Given the description of an element on the screen output the (x, y) to click on. 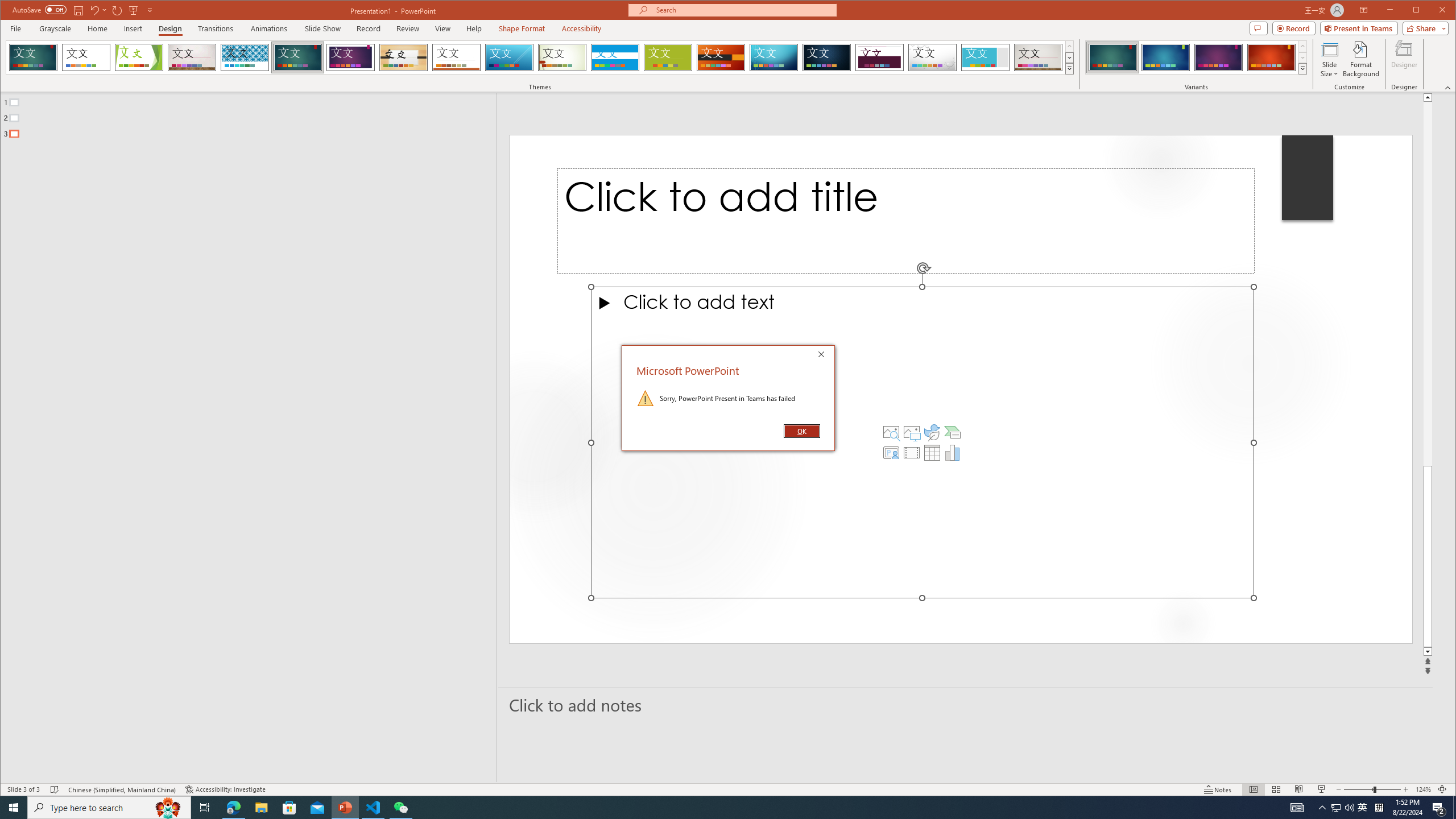
AutomationID: ThemeVariantsGallery (1196, 57)
Start (13, 807)
Tray Input Indicator - Chinese (Simplified, China) (1378, 807)
Wisp (561, 57)
Circuit (773, 57)
